Given the description of an element on the screen output the (x, y) to click on. 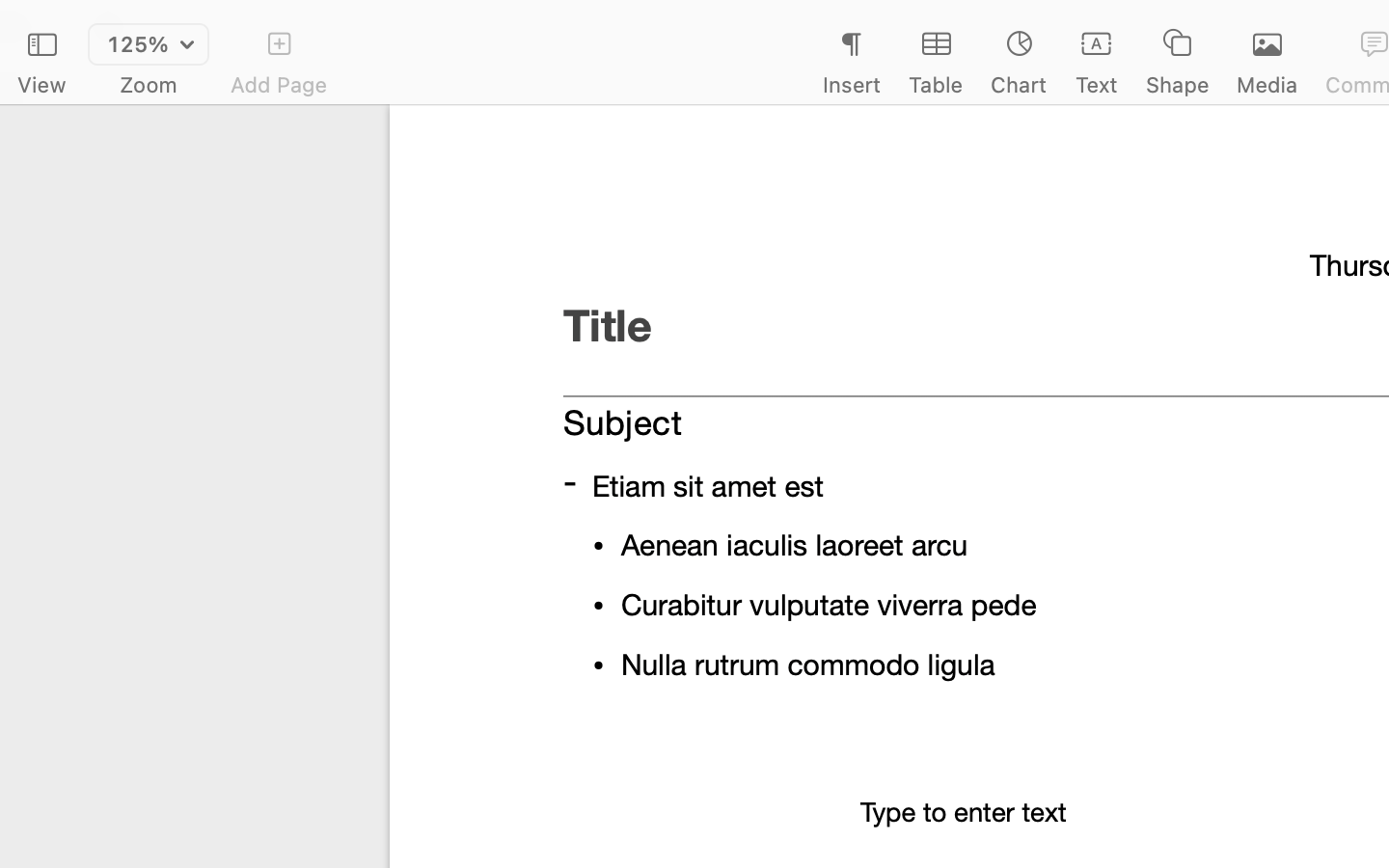
Media Element type: AXStaticText (1267, 84)
View Element type: AXStaticText (41, 84)
Click to link text boxes together. Element type: AXStaticText (1126, 568)
Zoom Element type: AXStaticText (148, 84)
Insert Element type: AXStaticText (850, 84)
